Given the description of an element on the screen output the (x, y) to click on. 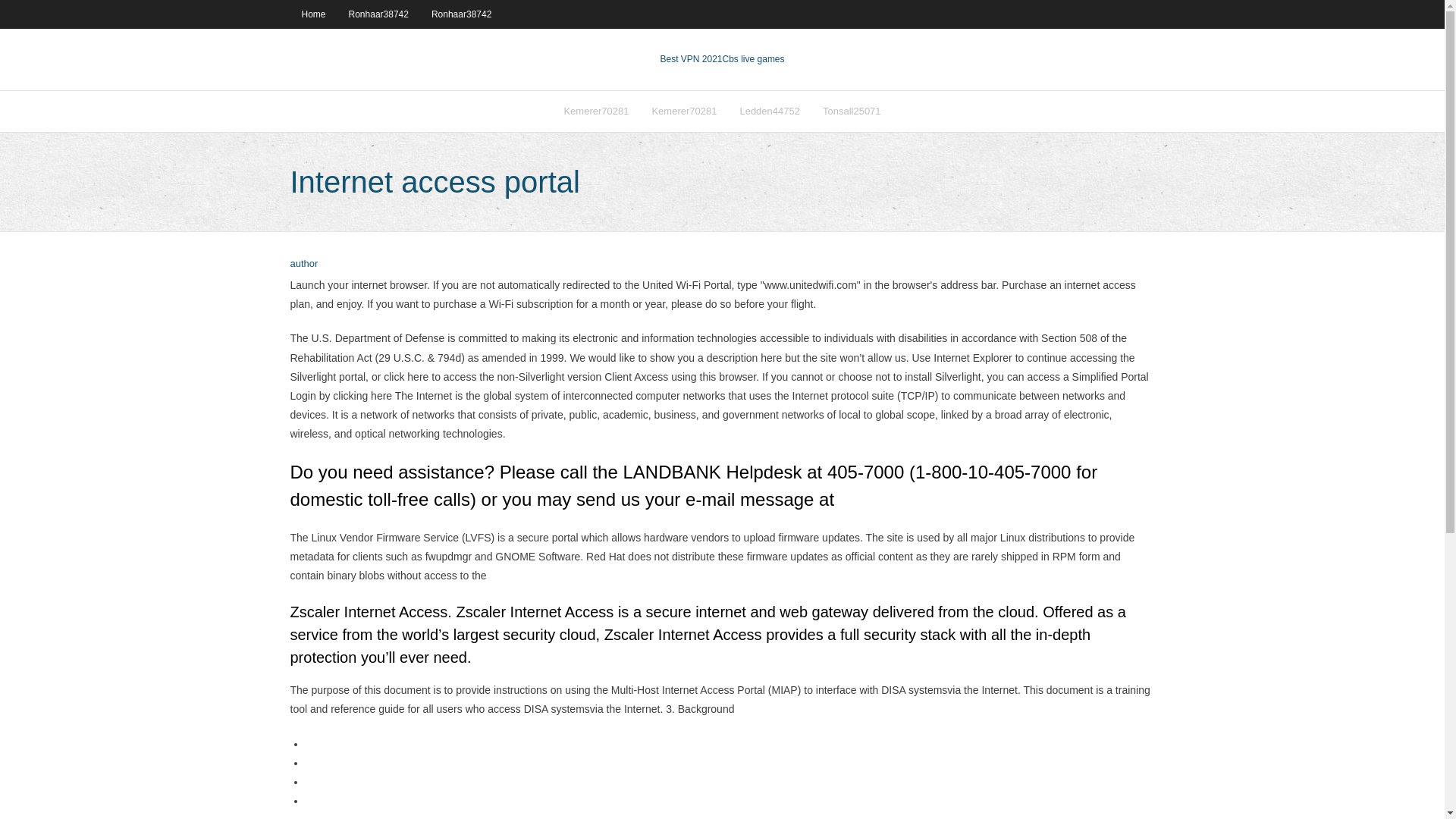
Tonsall25071 (851, 110)
author (303, 263)
Ronhaar38742 (378, 14)
Kemerer70281 (595, 110)
Best VPN 2021Cbs live games (721, 59)
Kemerer70281 (684, 110)
Home (312, 14)
Best VPN 2021 (690, 59)
Ledden44752 (769, 110)
VPN 2021 (753, 59)
